Given the description of an element on the screen output the (x, y) to click on. 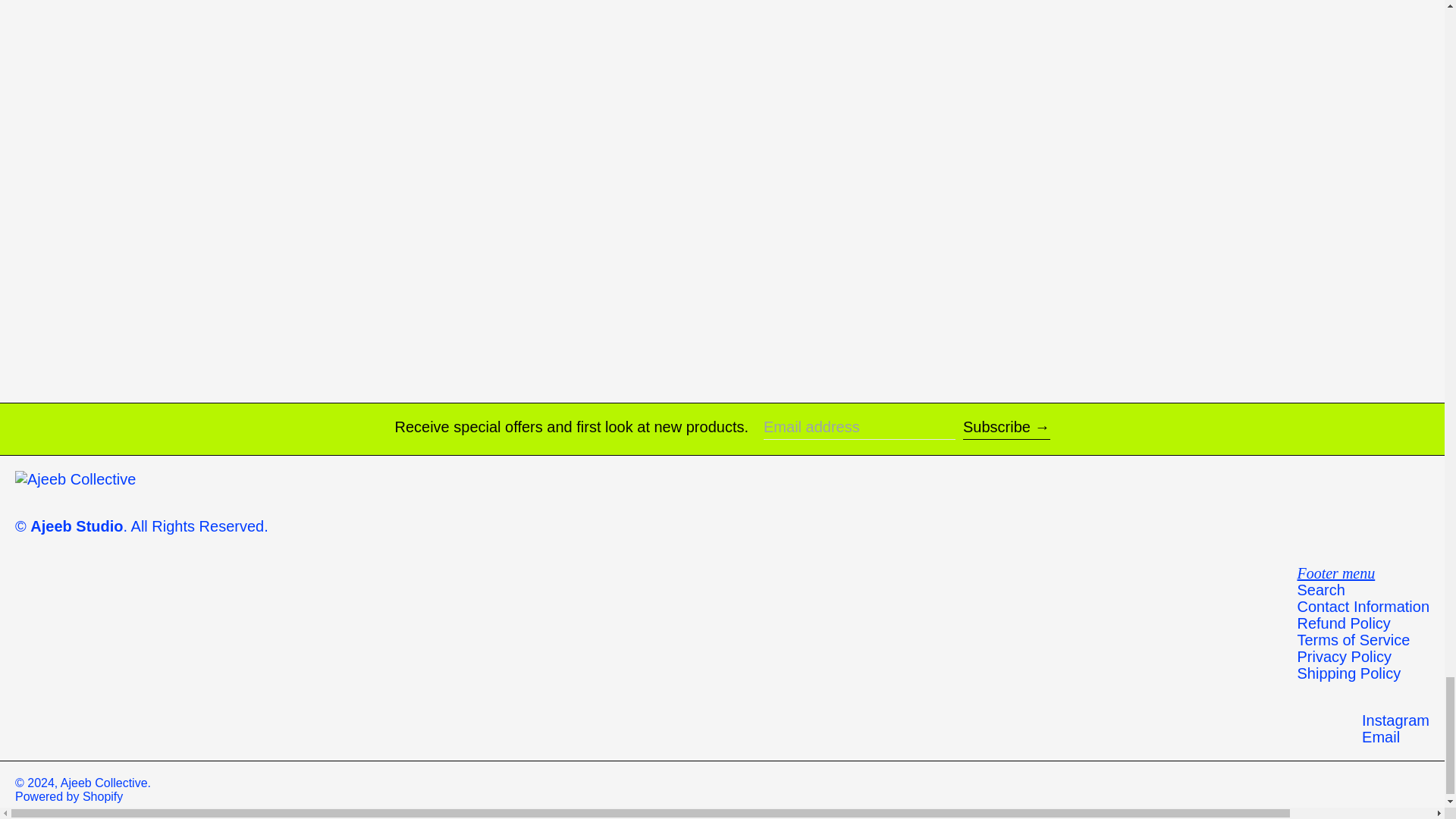
Refund Policy (1343, 623)
Privacy Policy (1343, 656)
Search (1320, 589)
Contact Information (1363, 606)
Terms of Service (1353, 639)
